Given the description of an element on the screen output the (x, y) to click on. 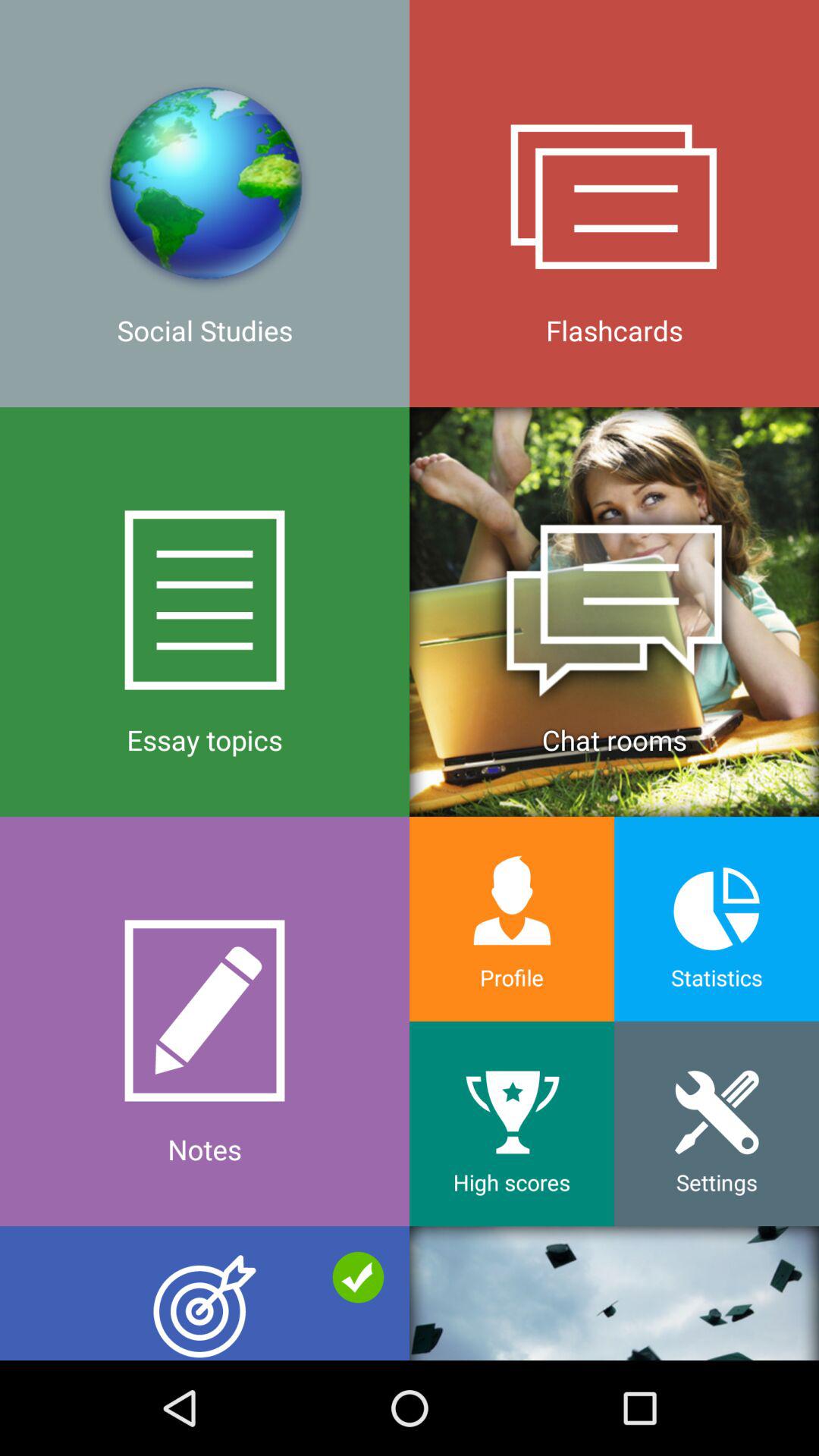
turn off the icon to the right of the notes (511, 1123)
